Given the description of an element on the screen output the (x, y) to click on. 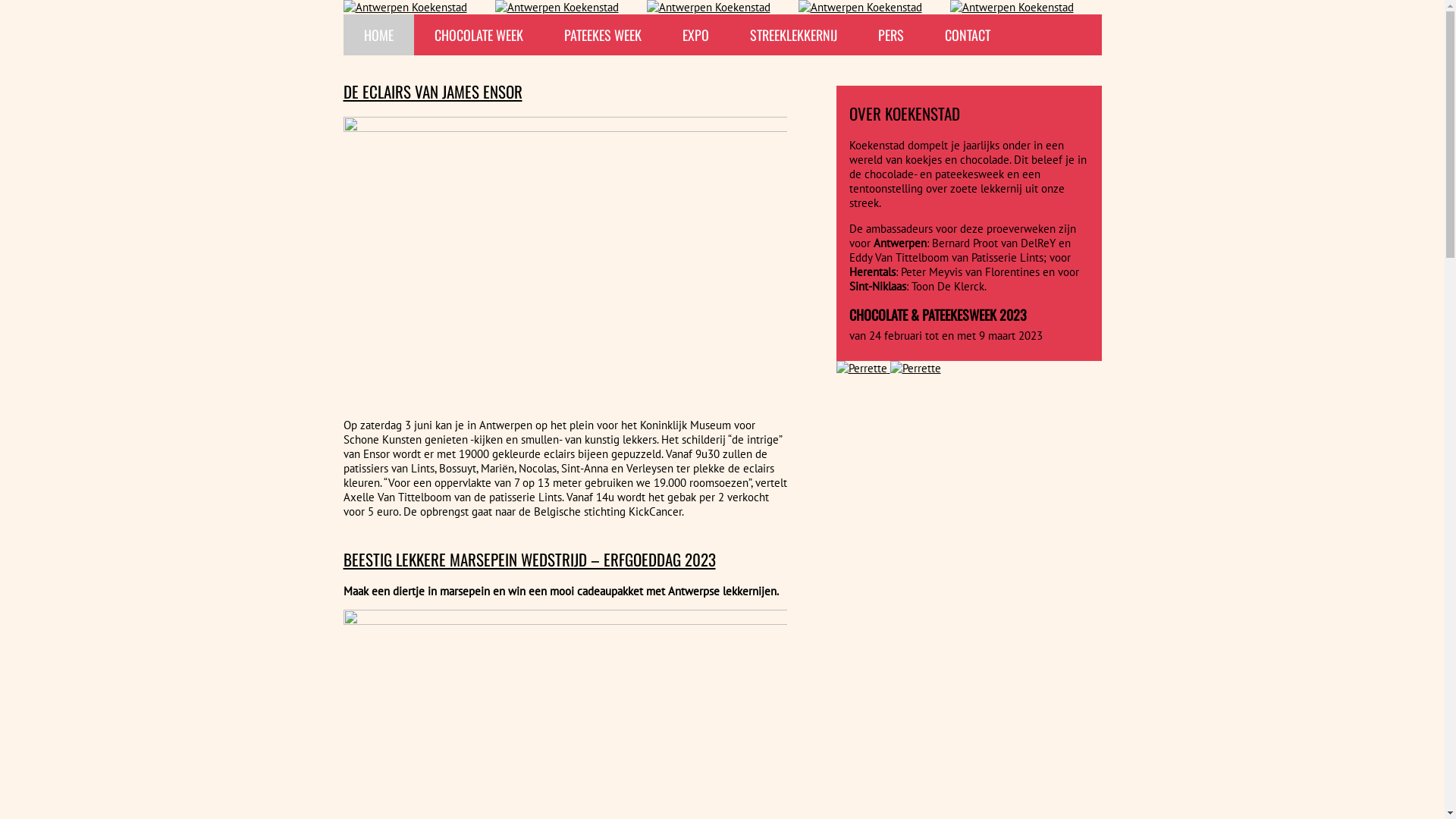
STREEKLEKKERNIJ Element type: text (793, 34)
CONTACT Element type: text (966, 34)
PATEEKES WEEK Element type: text (601, 34)
EXPO Element type: text (694, 34)
HOME Element type: text (377, 34)
PERS Element type: text (889, 34)
CHOCOLATE WEEK Element type: text (478, 34)
DE ECLAIRS VAN JAMES ENSOR Element type: text (431, 91)
